Given the description of an element on the screen output the (x, y) to click on. 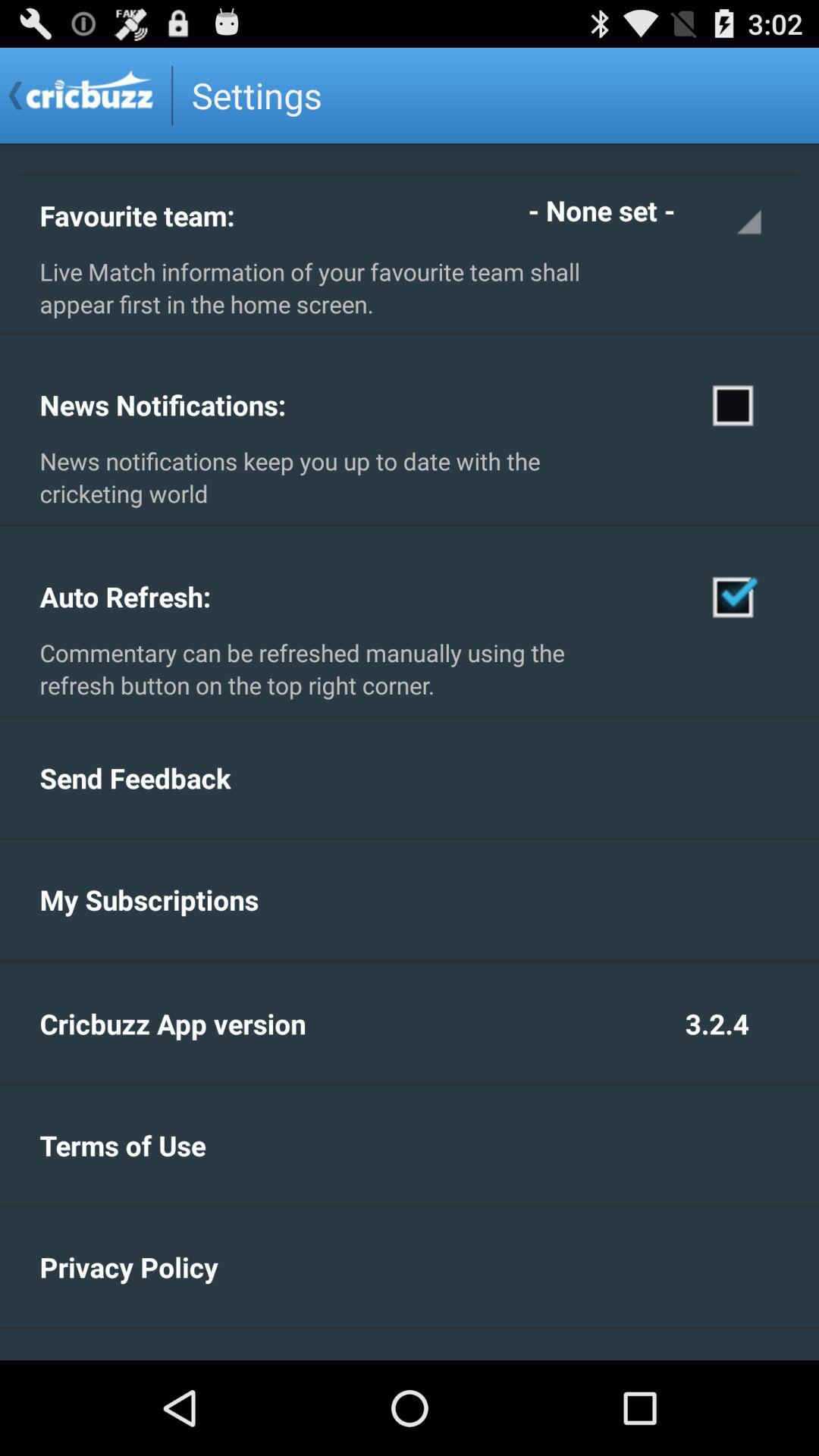
validate choice (733, 596)
